Given the description of an element on the screen output the (x, y) to click on. 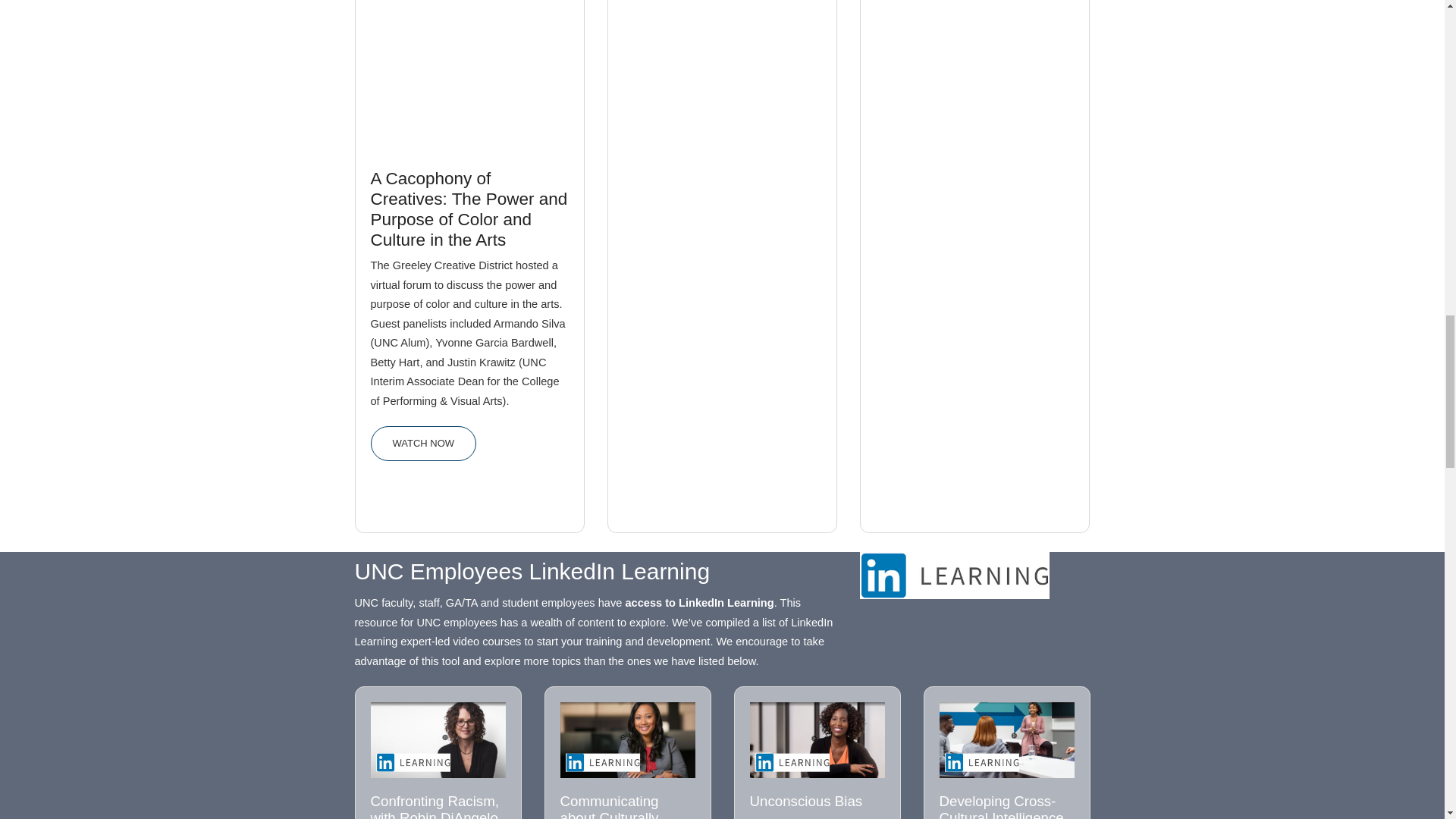
Developing Cross-Cultural Intelligence (1006, 739)
Confronting Racism (437, 739)
LinkedIn Learning: Confronting Racism (437, 739)
access to LinkedIn Learning (954, 574)
Watch Now (422, 443)
access to LinkedIn Learning (698, 603)
Communicating Culturally Sensitive Issues (626, 739)
Logo of UNC LinkedIn Learning (954, 575)
LinkedIn Unconscious Bias (816, 739)
